Given the description of an element on the screen output the (x, y) to click on. 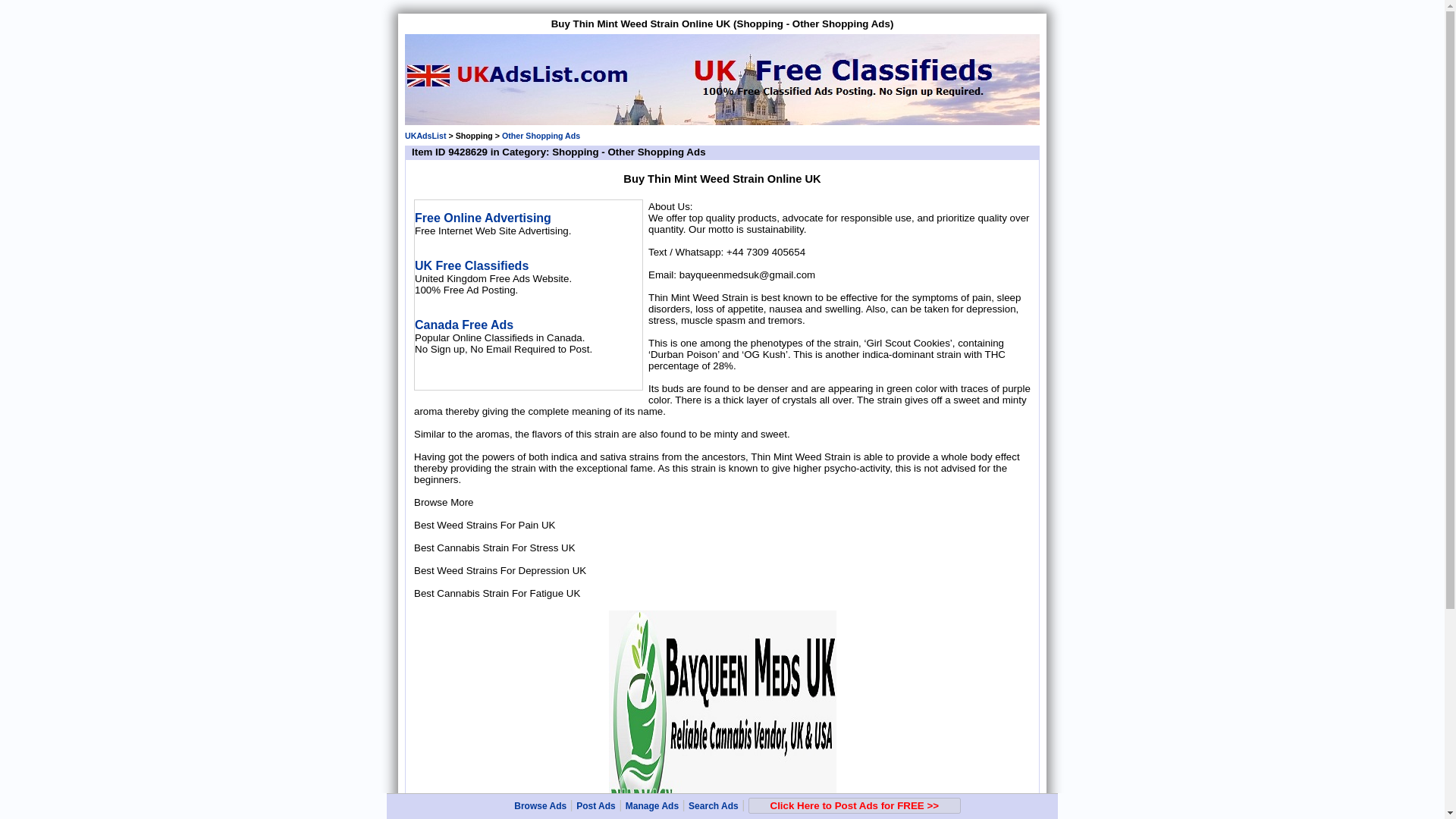
Go Back to UKAdsList.com Home Page (424, 135)
UK Free Classifieds (471, 265)
Other Shopping Ads (540, 135)
Post Ads (595, 805)
Canada Free Ads (463, 324)
Manage Ads (652, 805)
UKAdsList (424, 135)
Free Online Advertising (482, 217)
Browse Ads (539, 805)
Search Ads (713, 805)
